Given the description of an element on the screen output the (x, y) to click on. 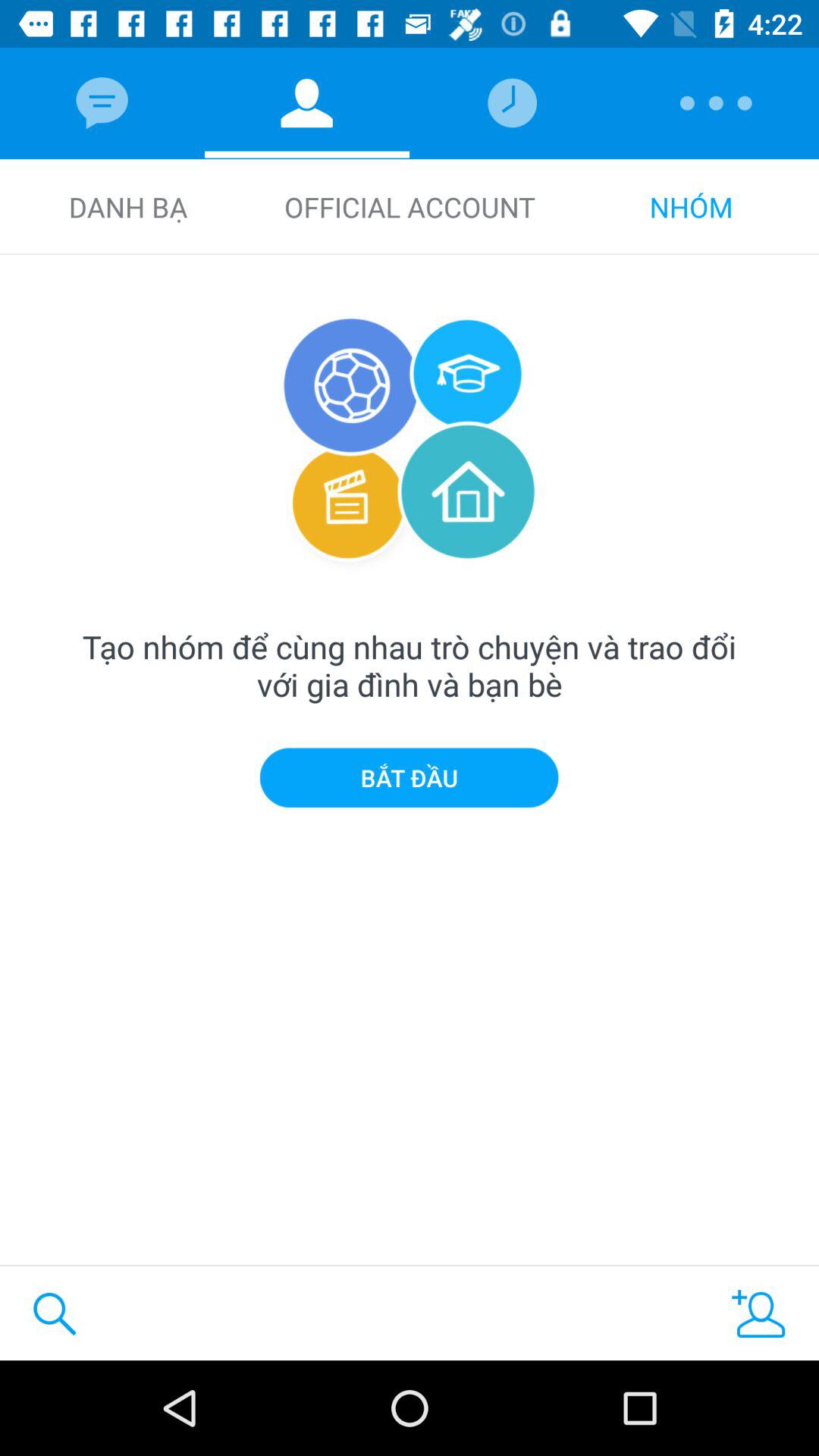
tap icon next to the official account item (691, 206)
